Given the description of an element on the screen output the (x, y) to click on. 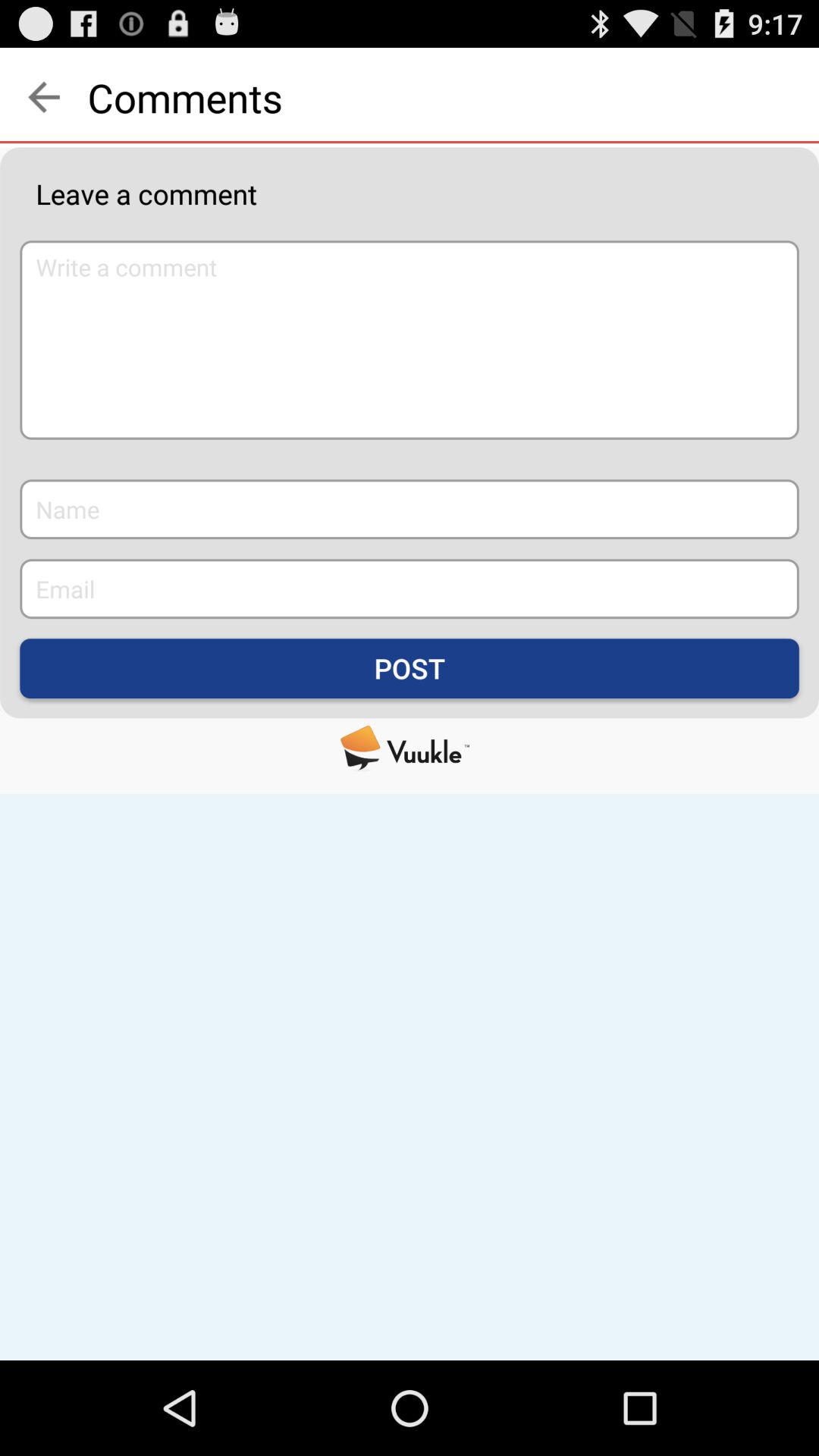
type comment (409, 339)
